Given the description of an element on the screen output the (x, y) to click on. 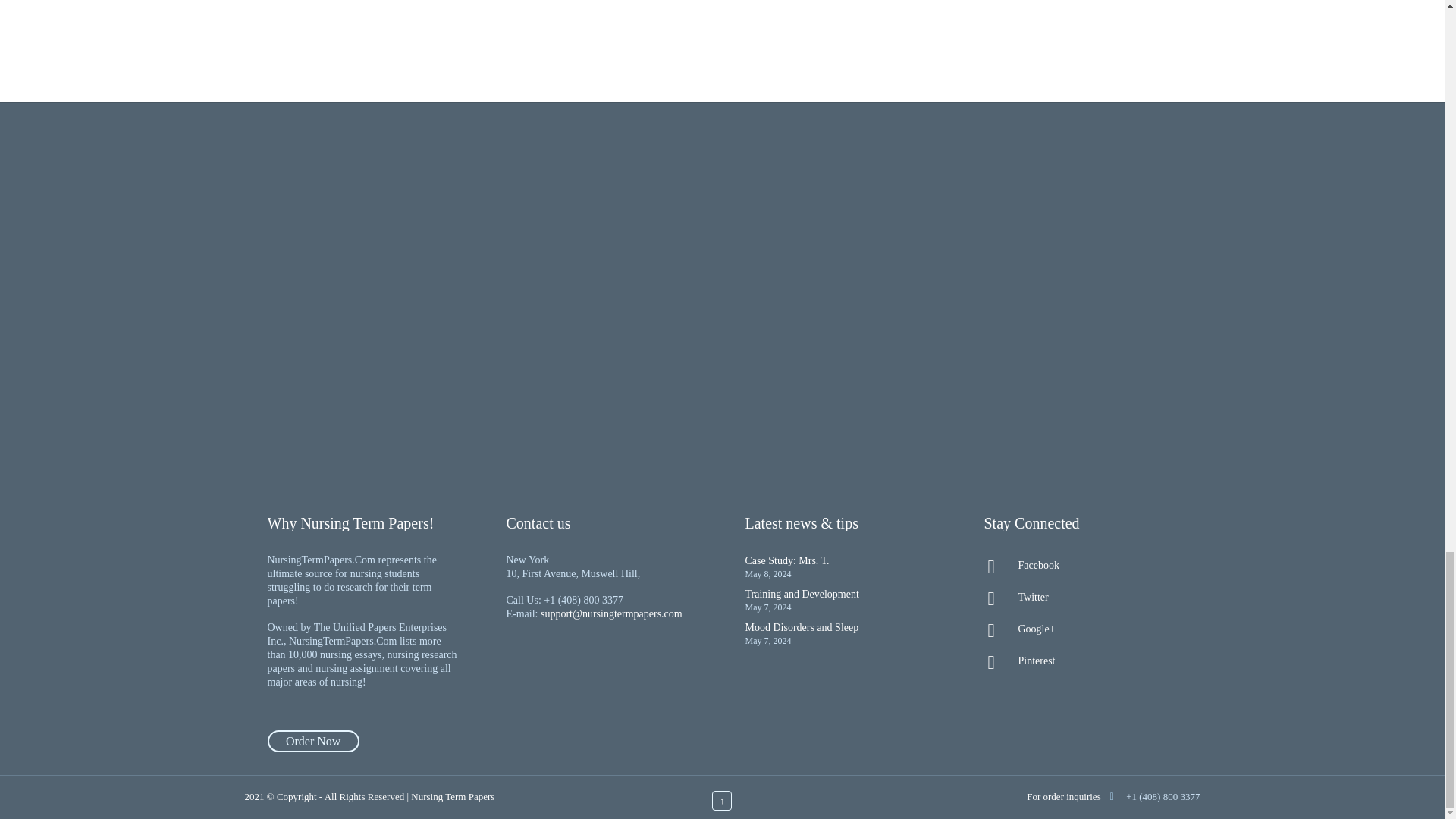
Mood Disorders and Sleep (801, 627)
Training and Development (801, 593)
Facebook (1080, 565)
Case Study: Mrs. T. (786, 560)
Pinterest (1080, 661)
Twitter (1080, 597)
